Given the description of an element on the screen output the (x, y) to click on. 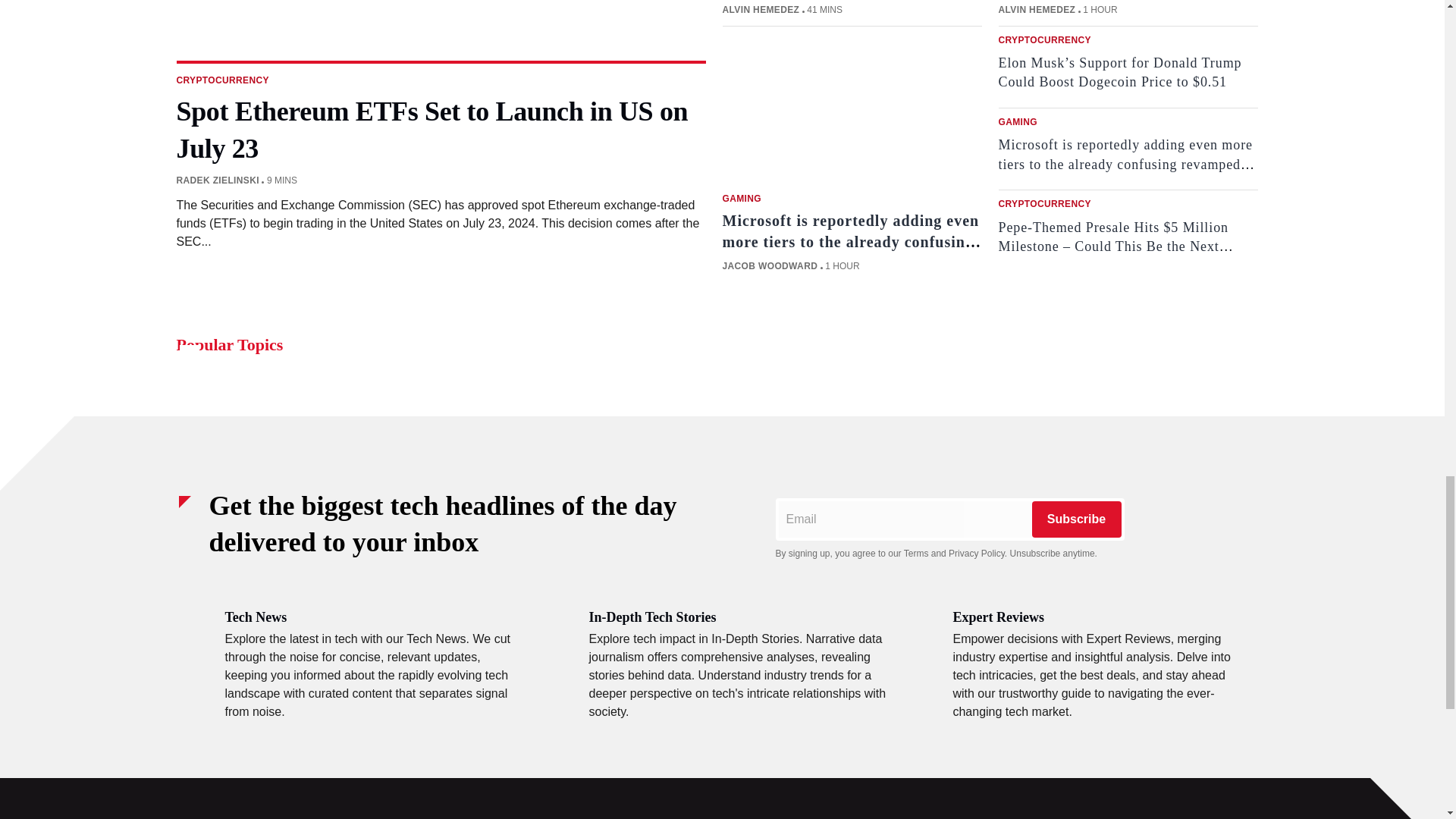
Subscribe (1075, 519)
